Given the description of an element on the screen output the (x, y) to click on. 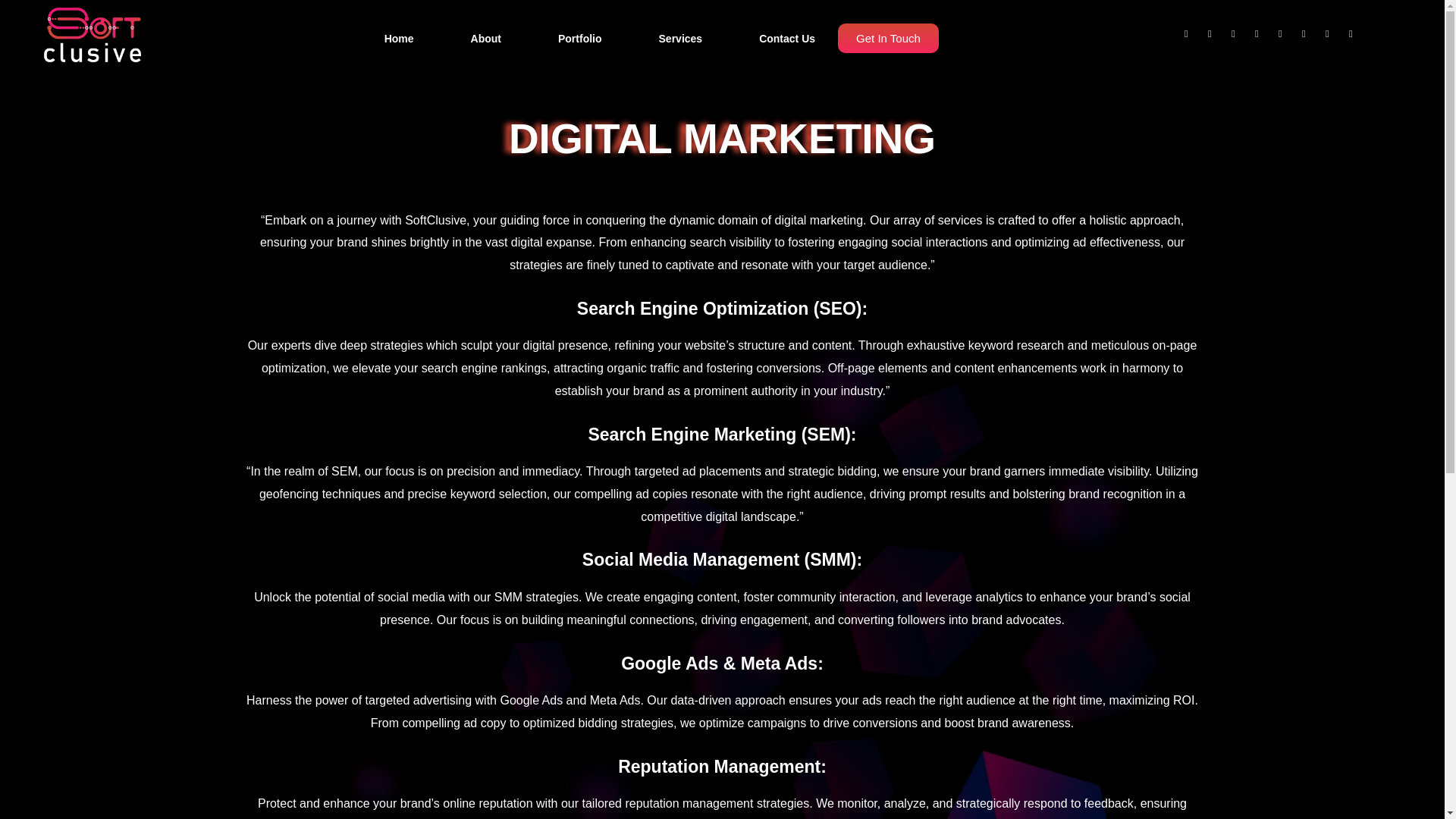
Services (681, 38)
Portfolio (579, 38)
Icon-blogger2 (1332, 38)
Contact Us (786, 38)
Get In Touch (888, 38)
Instagram (1308, 38)
Medium (1237, 38)
Icon-x (1214, 38)
Facebook (1190, 38)
Linkedin (1355, 38)
